Given the description of an element on the screen output the (x, y) to click on. 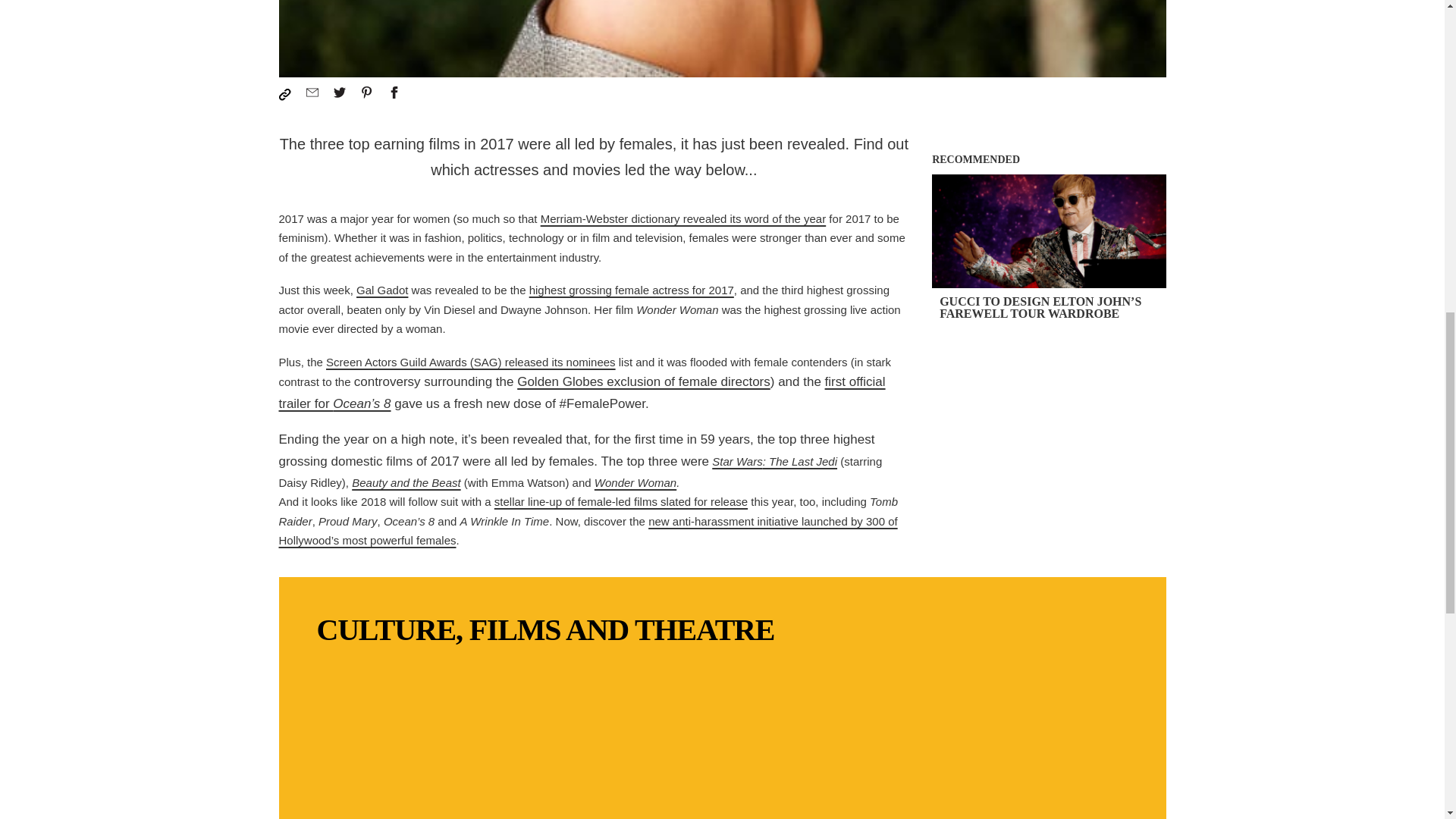
Merriam-Webster dictionary revealed its word of the year (683, 218)
highest grossing female actress for 2017 (631, 289)
Golden Globes exclusion of female directors (643, 381)
Beauty and the Beast (406, 481)
Star Wars: The Last Jedi (774, 461)
Gal Gadot (381, 289)
